Given the description of an element on the screen output the (x, y) to click on. 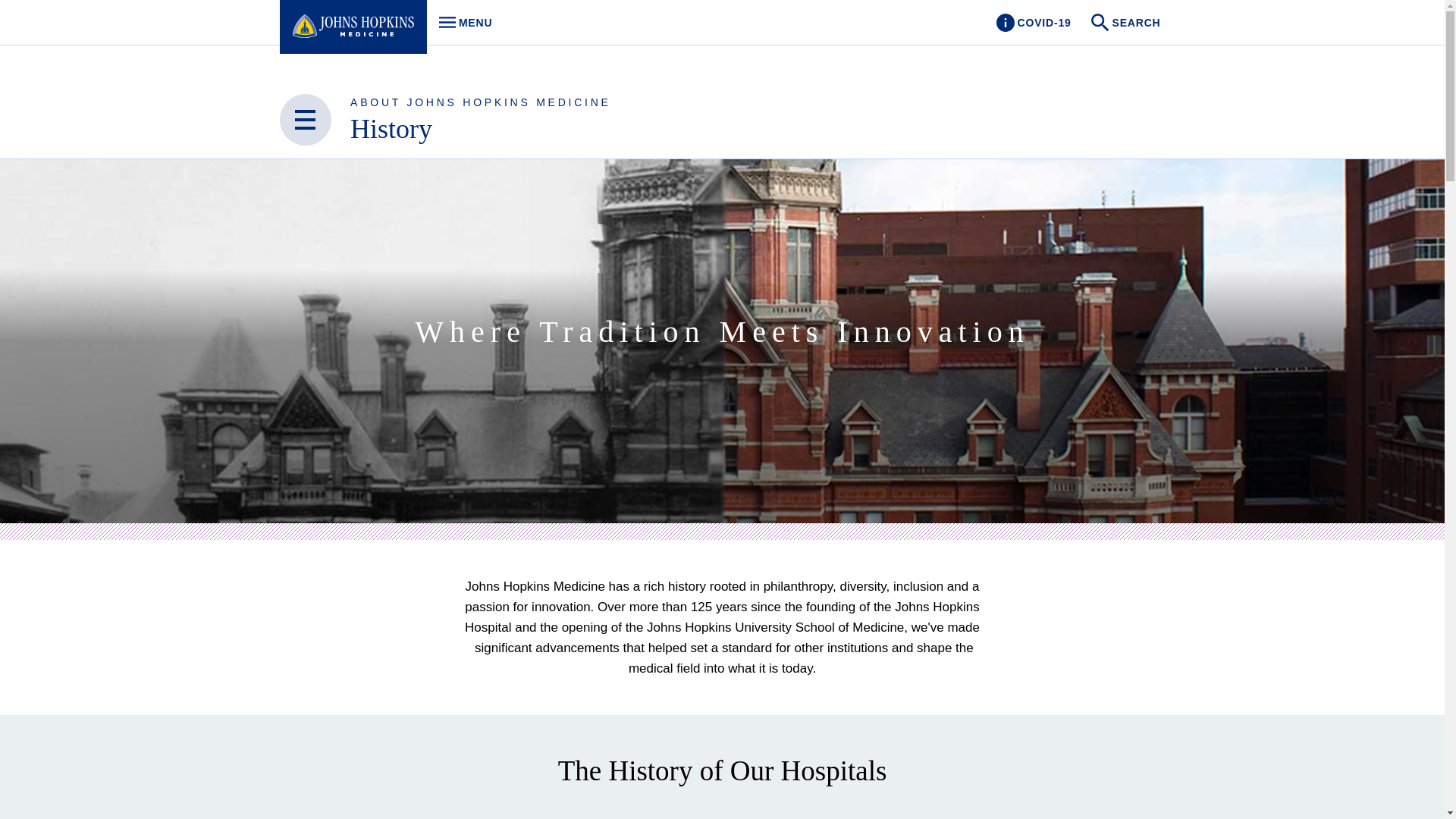
Close Main Menu (304, 119)
ABOUT JOHNS HOPKINS MEDICINE (480, 102)
History (461, 22)
COVID-19 (391, 128)
SEARCH (1033, 22)
